Given the description of an element on the screen output the (x, y) to click on. 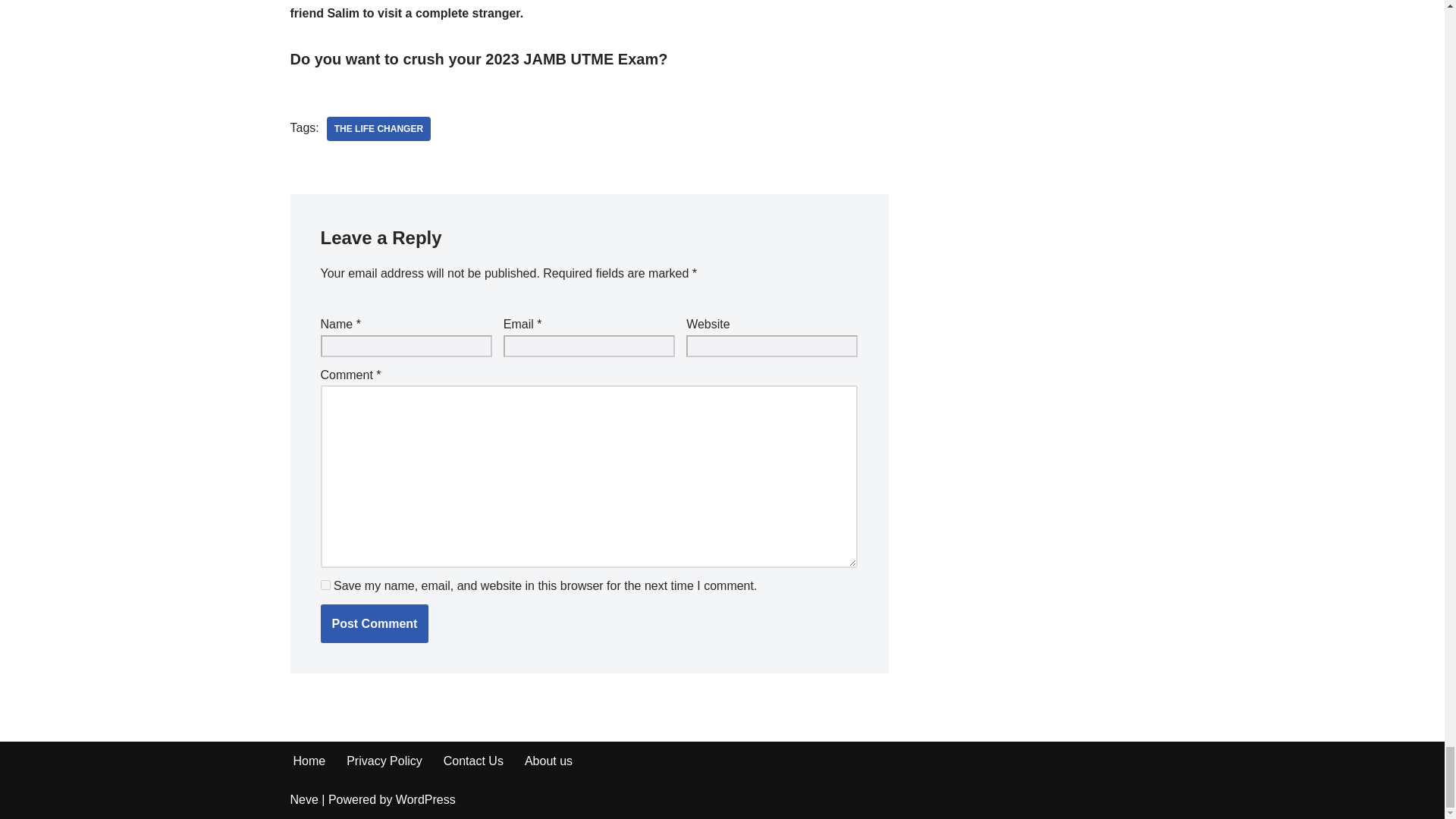
yes (325, 584)
The Life Changer (378, 128)
Post Comment (374, 623)
